Given the description of an element on the screen output the (x, y) to click on. 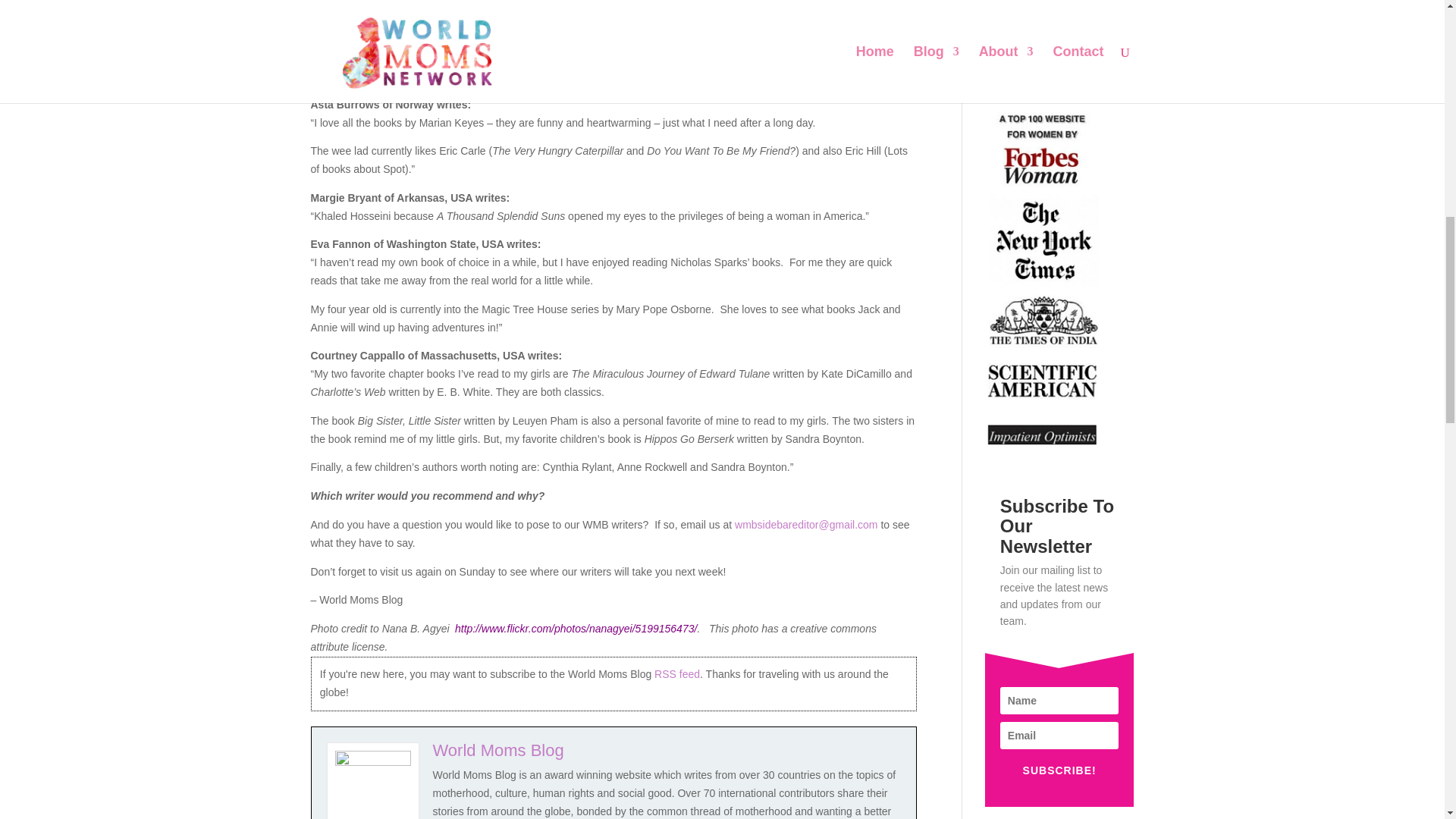
World Moms Blog (497, 750)
